Given the description of an element on the screen output the (x, y) to click on. 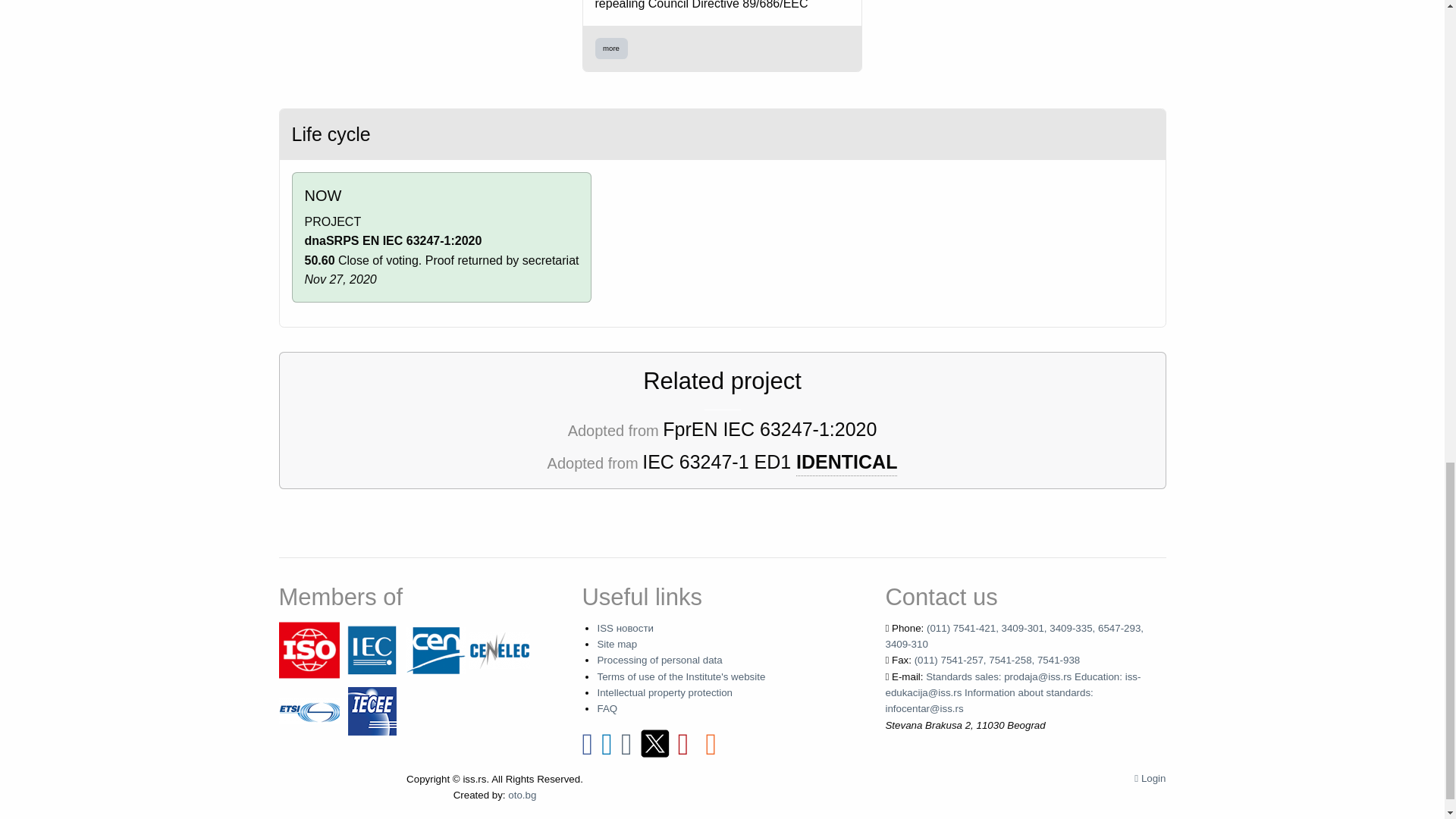
CEN (435, 649)
IEC (372, 649)
CENELEC (498, 649)
ETSI (309, 709)
ISO (309, 649)
IECEE (372, 709)
